Given the description of an element on the screen output the (x, y) to click on. 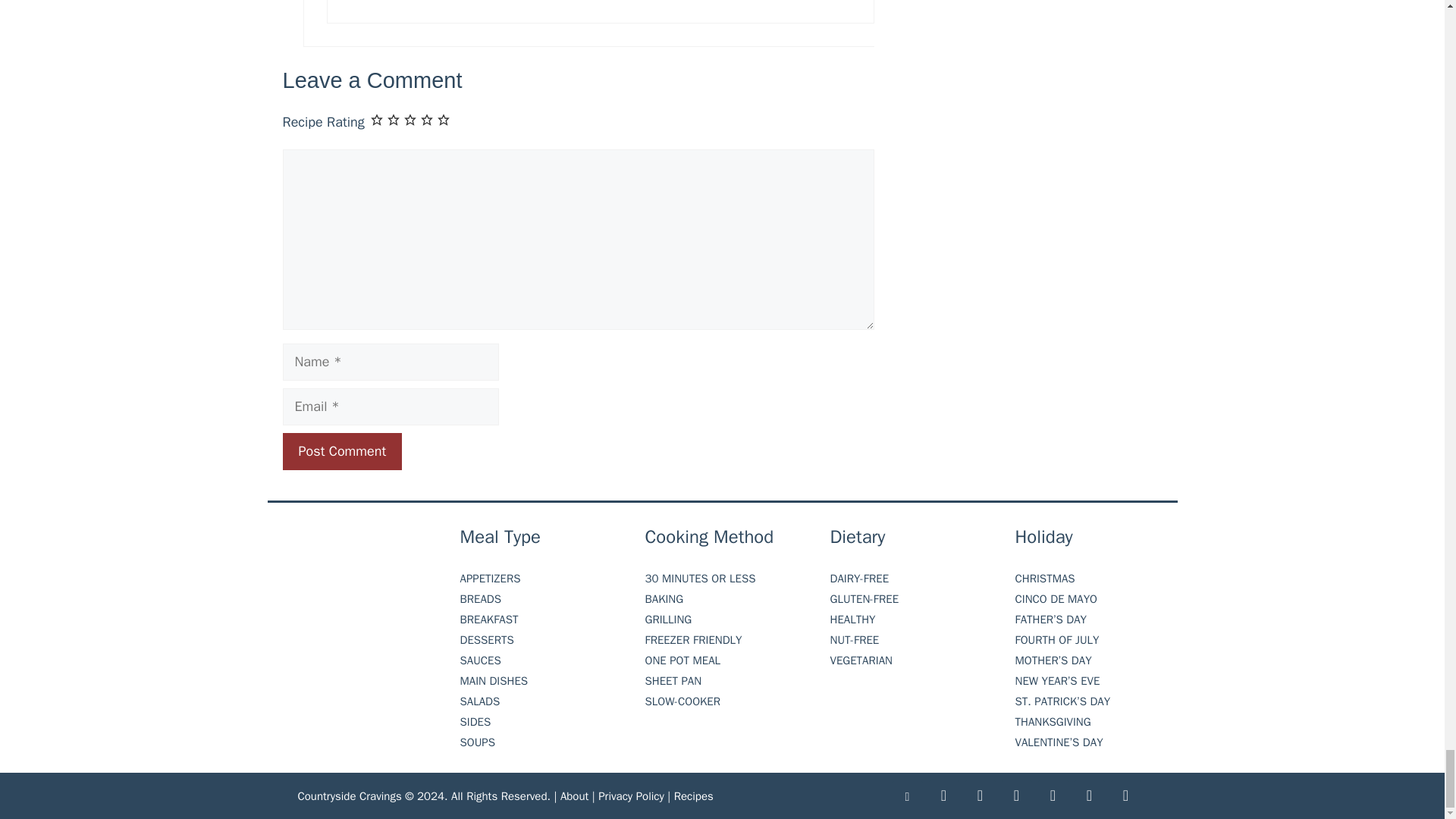
Twitter (1051, 795)
Blog Lovin' (906, 796)
Pinterest (1015, 795)
Post Comment (341, 451)
Instagram (1124, 795)
Facebook (943, 795)
Instagram (978, 795)
RSS (1088, 795)
